Given the description of an element on the screen output the (x, y) to click on. 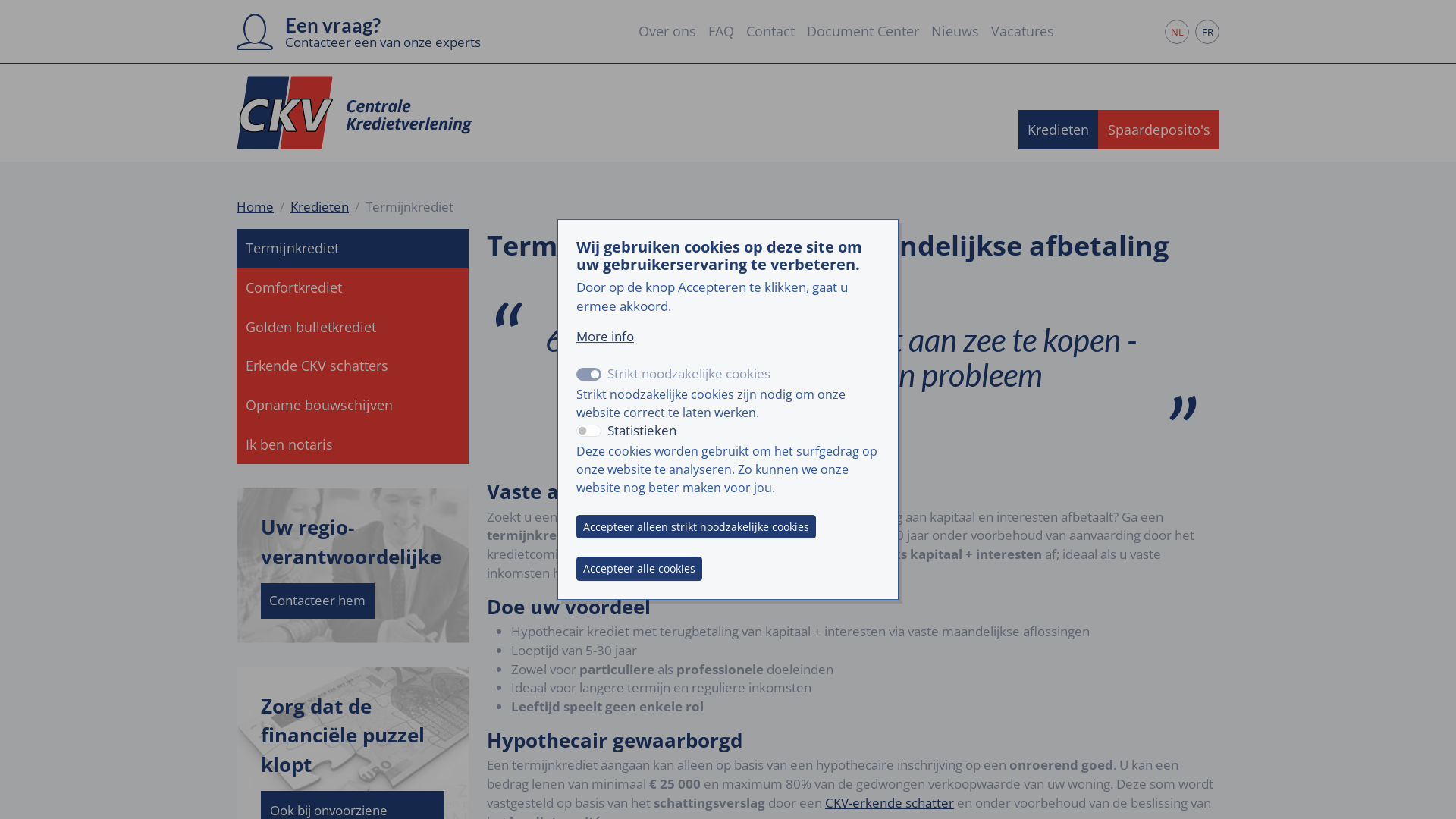
Over ons Element type: text (667, 31)
Contact Element type: text (770, 31)
CKV-erkende schatter Element type: text (889, 802)
FR Element type: text (1207, 31)
Accepteer alle cookies Element type: text (639, 568)
Toestemming intrekken Element type: text (706, 555)
Opname bouwschijven Element type: text (352, 405)
Home Element type: text (254, 206)
Nieuws Element type: text (955, 31)
Home Element type: hover (360, 112)
Comfortkrediet Element type: text (352, 287)
Document Center Element type: text (862, 31)
FAQ Element type: text (721, 31)
Termijnkrediet Element type: text (352, 248)
Spaardeposito's Element type: text (1158, 129)
Contacteer een van onze experts Element type: text (382, 41)
Vacatures Element type: text (1022, 31)
Kredieten Element type: text (319, 206)
Golden bulletkrediet Element type: text (352, 326)
More info Element type: text (604, 336)
NL Element type: text (1176, 31)
Erkende CKV schatters Element type: text (352, 365)
Kredieten Element type: text (1057, 129)
Een vraag? Element type: text (332, 27)
Contacteer hem Element type: text (317, 600)
Accepteer alleen strikt noodzakelijke cookies Element type: text (695, 526)
Ik ben notaris Element type: text (352, 444)
